Given the description of an element on the screen output the (x, y) to click on. 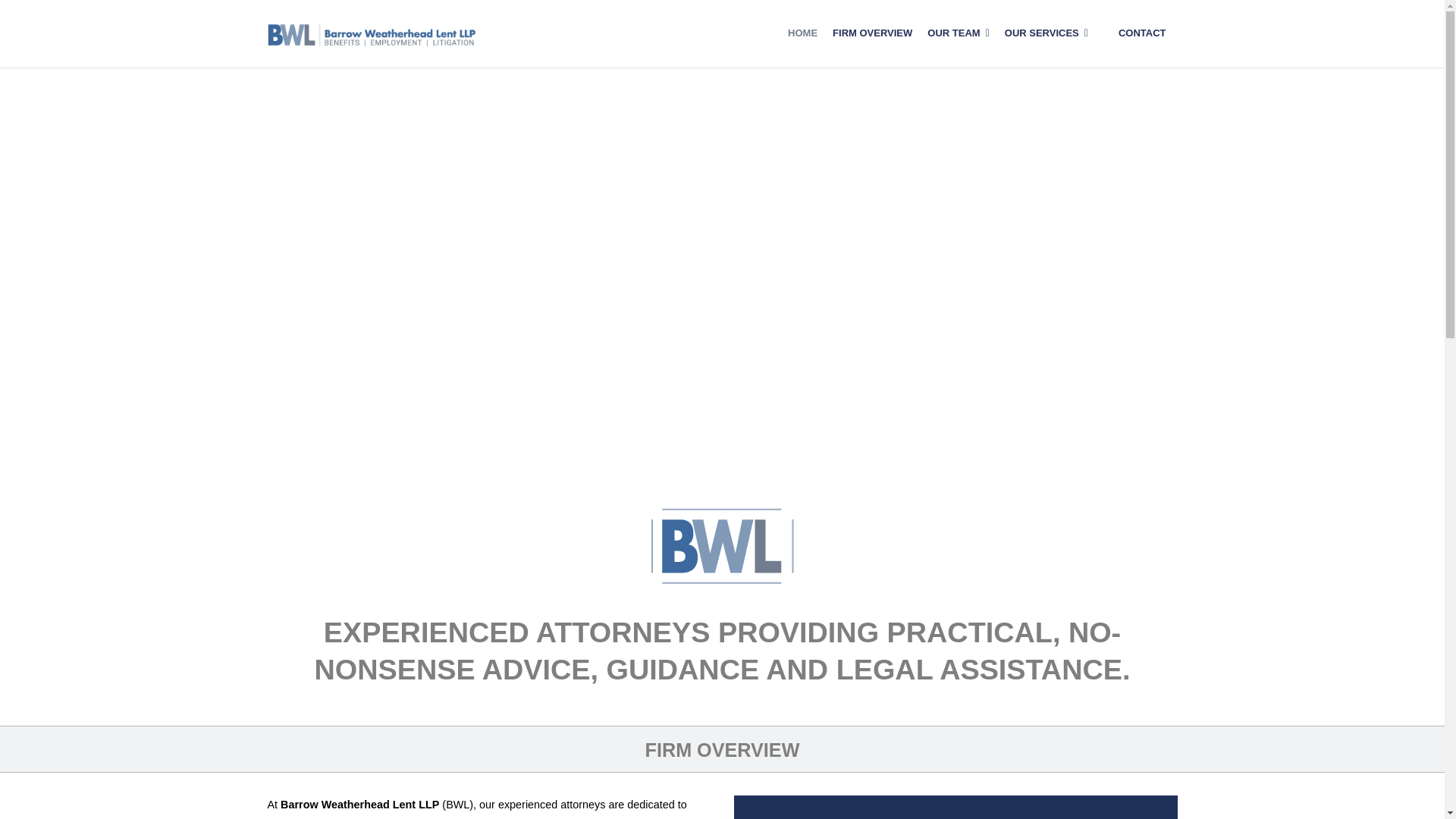
OUR TEAM (957, 33)
OUR SERVICES (1046, 33)
FIRM OVERVIEW (872, 33)
